Given the description of an element on the screen output the (x, y) to click on. 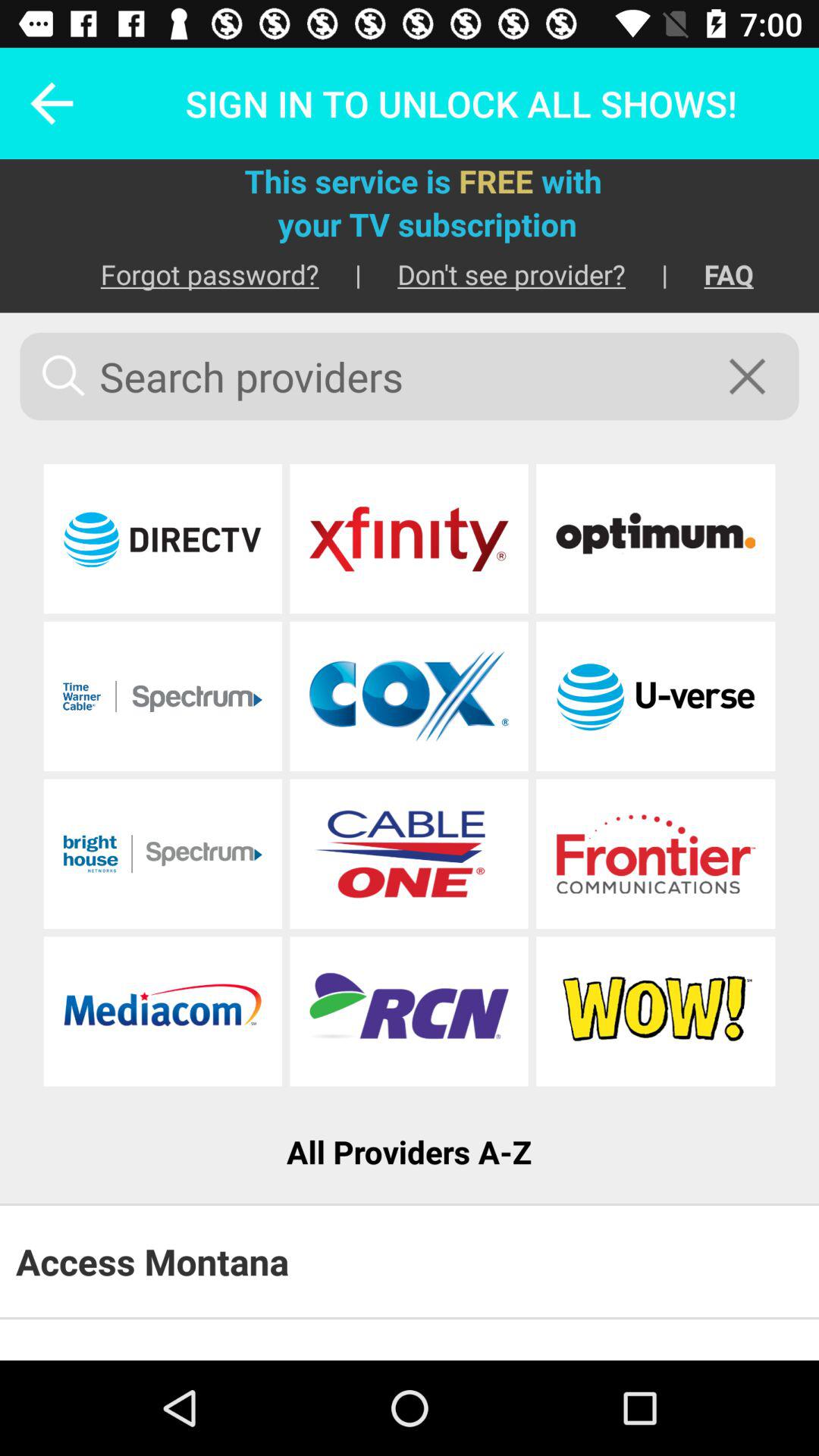
input provider (162, 696)
